Given the description of an element on the screen output the (x, y) to click on. 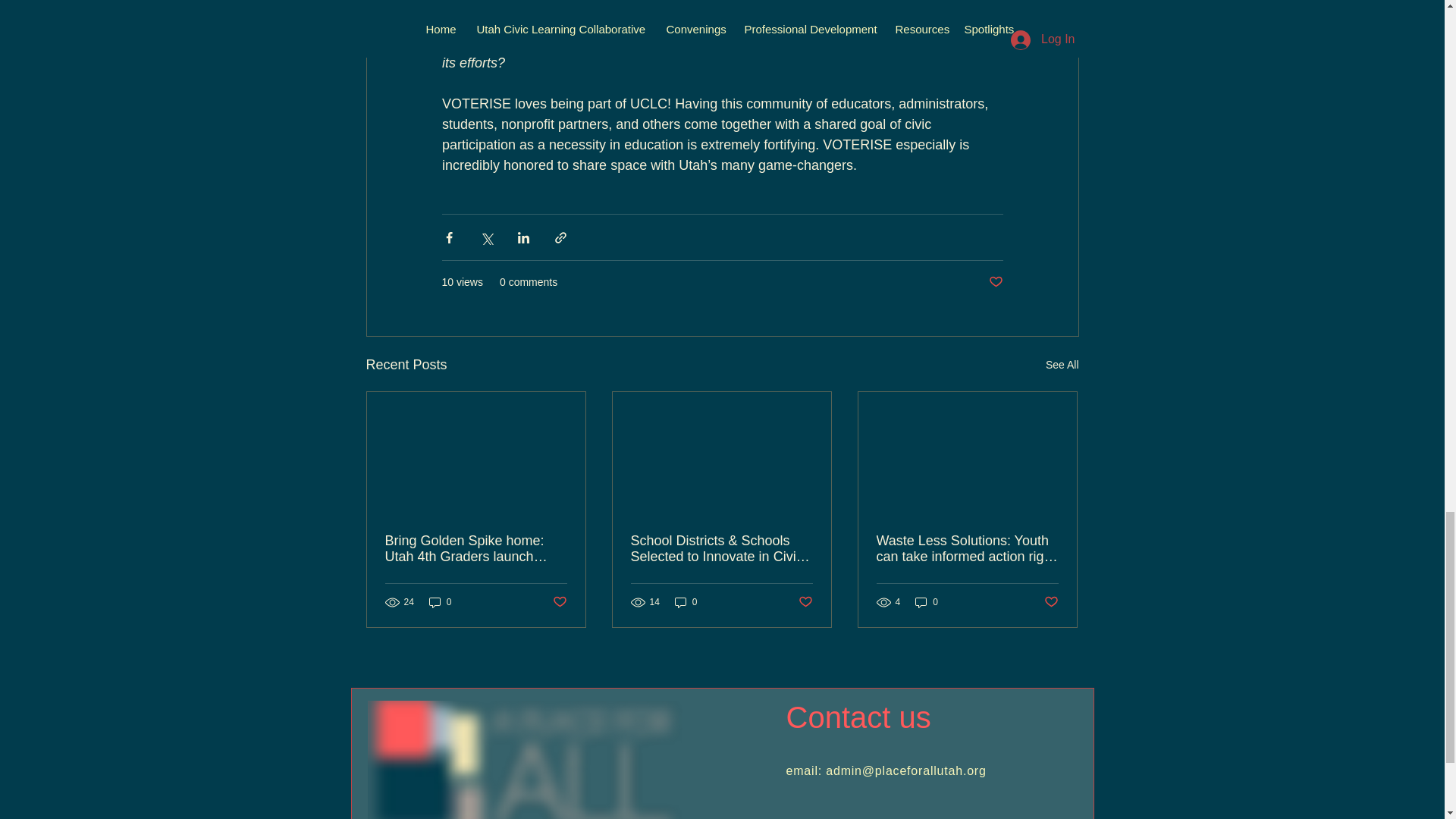
0 (440, 601)
See All (1061, 364)
Post not marked as liked (558, 602)
Post not marked as liked (995, 282)
